Given the description of an element on the screen output the (x, y) to click on. 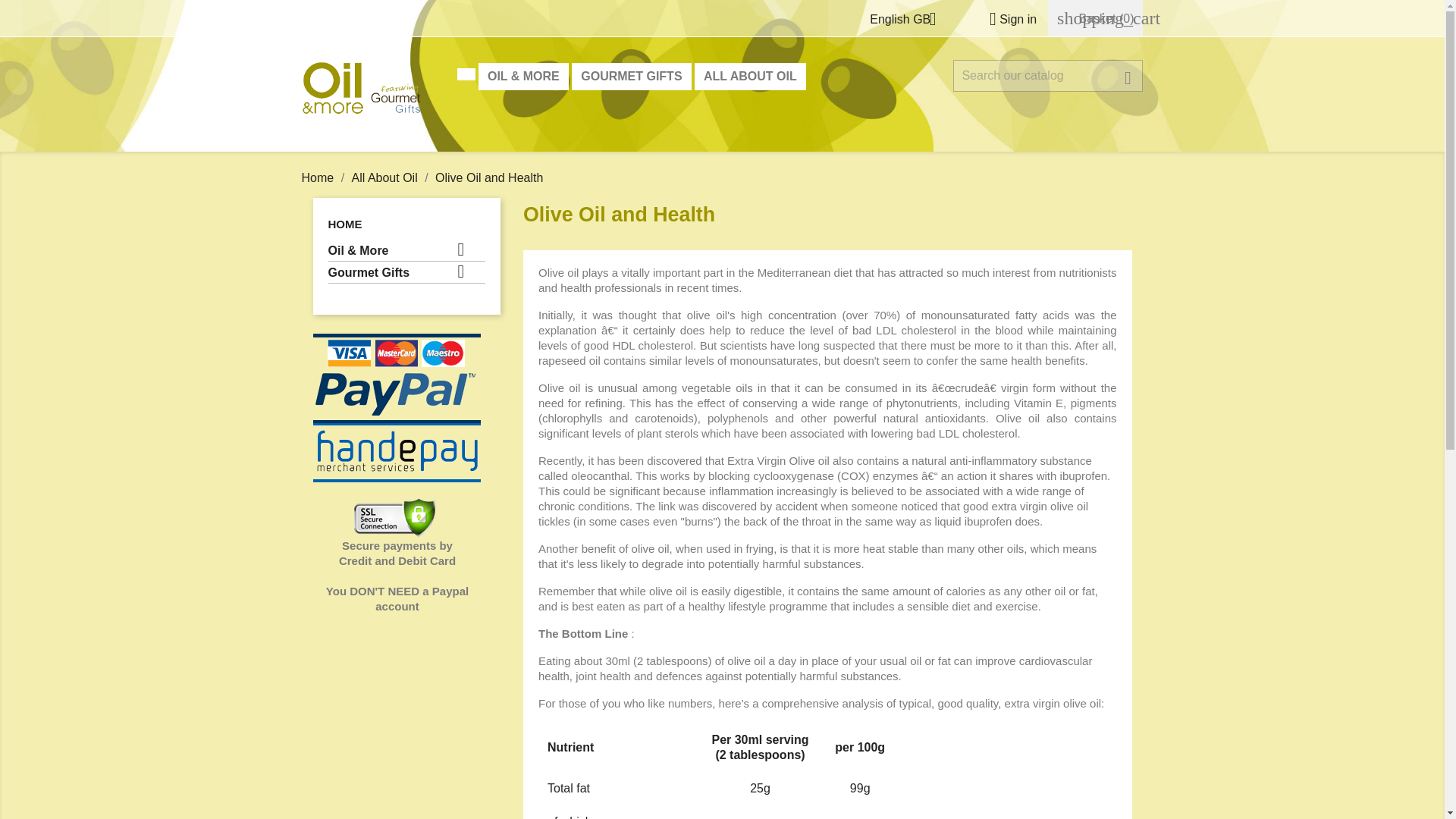
All About Oil (387, 177)
Log in to your customer account (1007, 19)
GOURMET GIFTS (631, 76)
HOME (344, 223)
Home (319, 177)
Olive Oil and Health (489, 177)
ALL ABOUT OIL (750, 76)
